Given the description of an element on the screen output the (x, y) to click on. 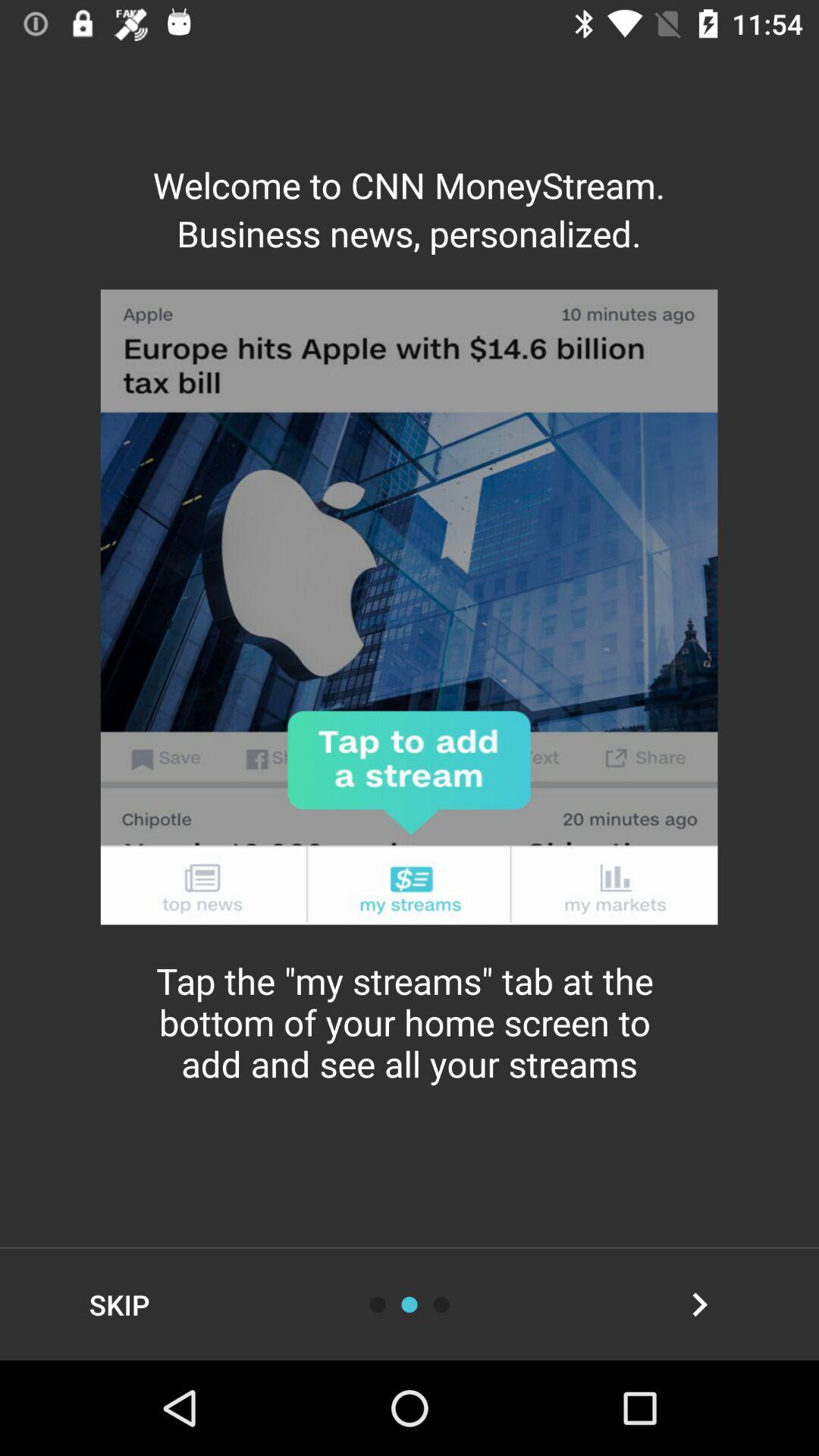
click item at the bottom right corner (699, 1304)
